Given the description of an element on the screen output the (x, y) to click on. 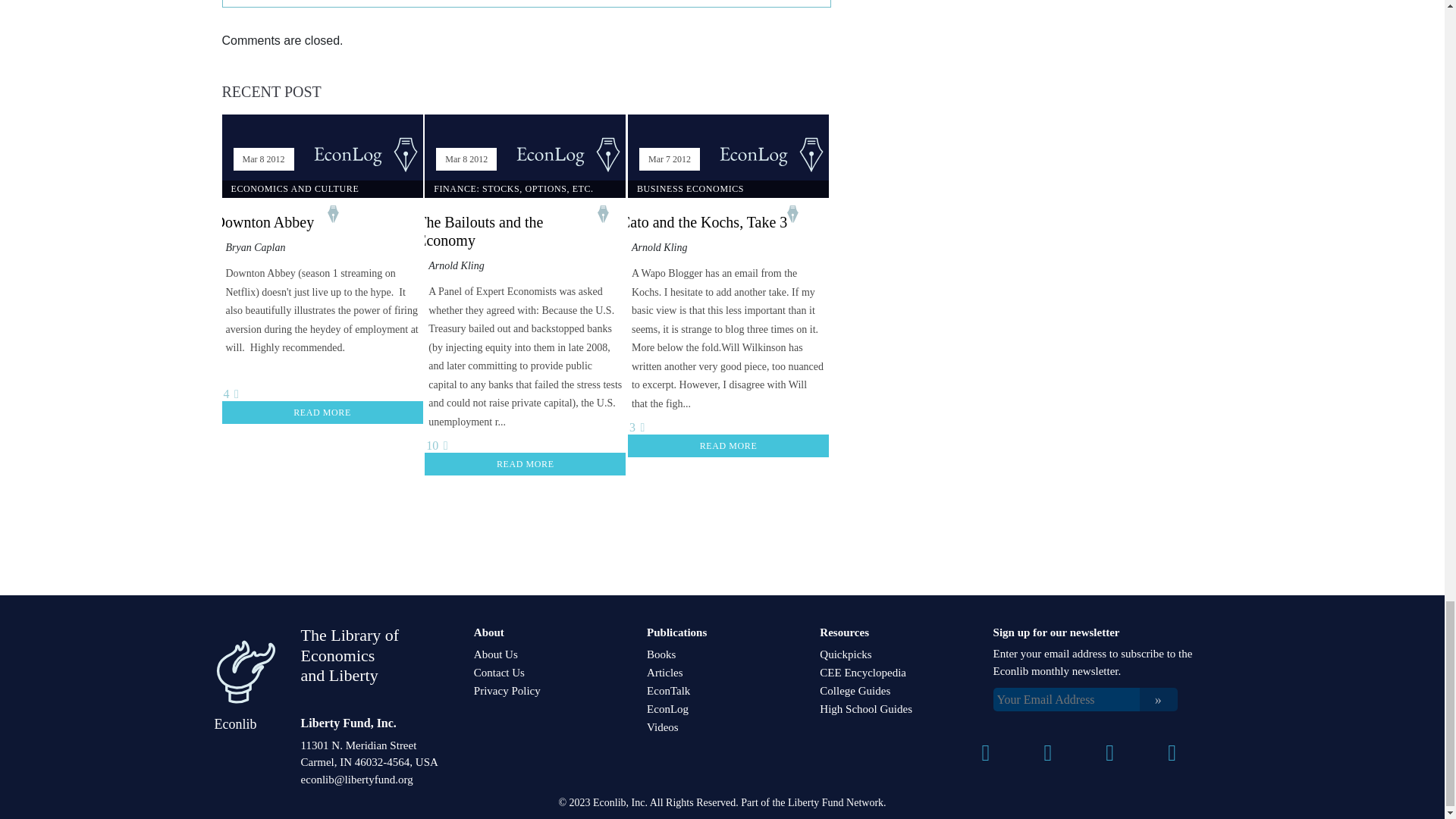
Bryan Caplan (255, 247)
Arnold Kling (456, 265)
Arnold Kling (659, 247)
